Given the description of an element on the screen output the (x, y) to click on. 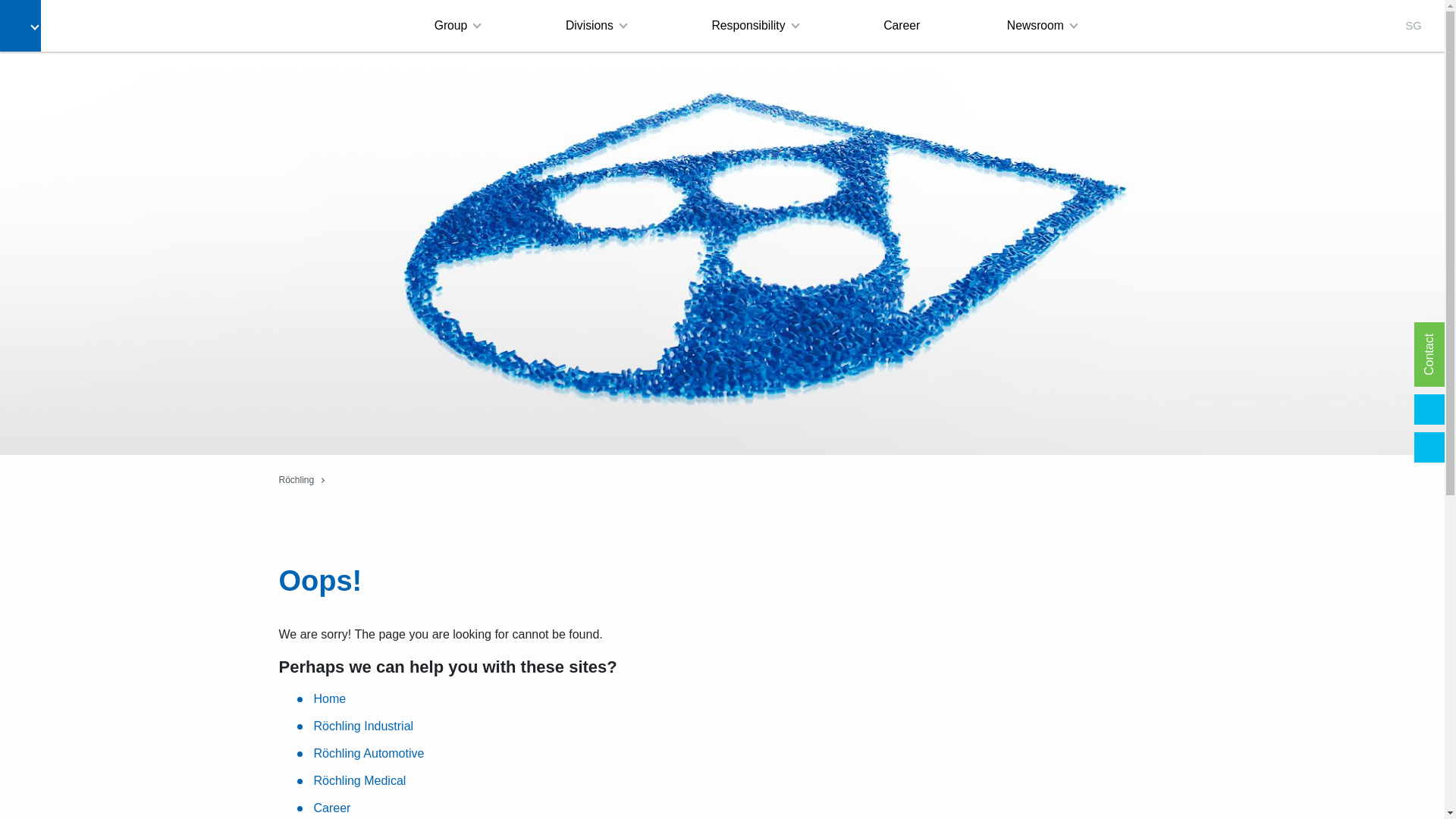
Group (456, 25)
Newsroom (1041, 25)
Divisions (595, 25)
Divisions (595, 25)
Responsibility (753, 25)
Responsibility (753, 25)
Group (456, 25)
Career (901, 25)
